Given the description of an element on the screen output the (x, y) to click on. 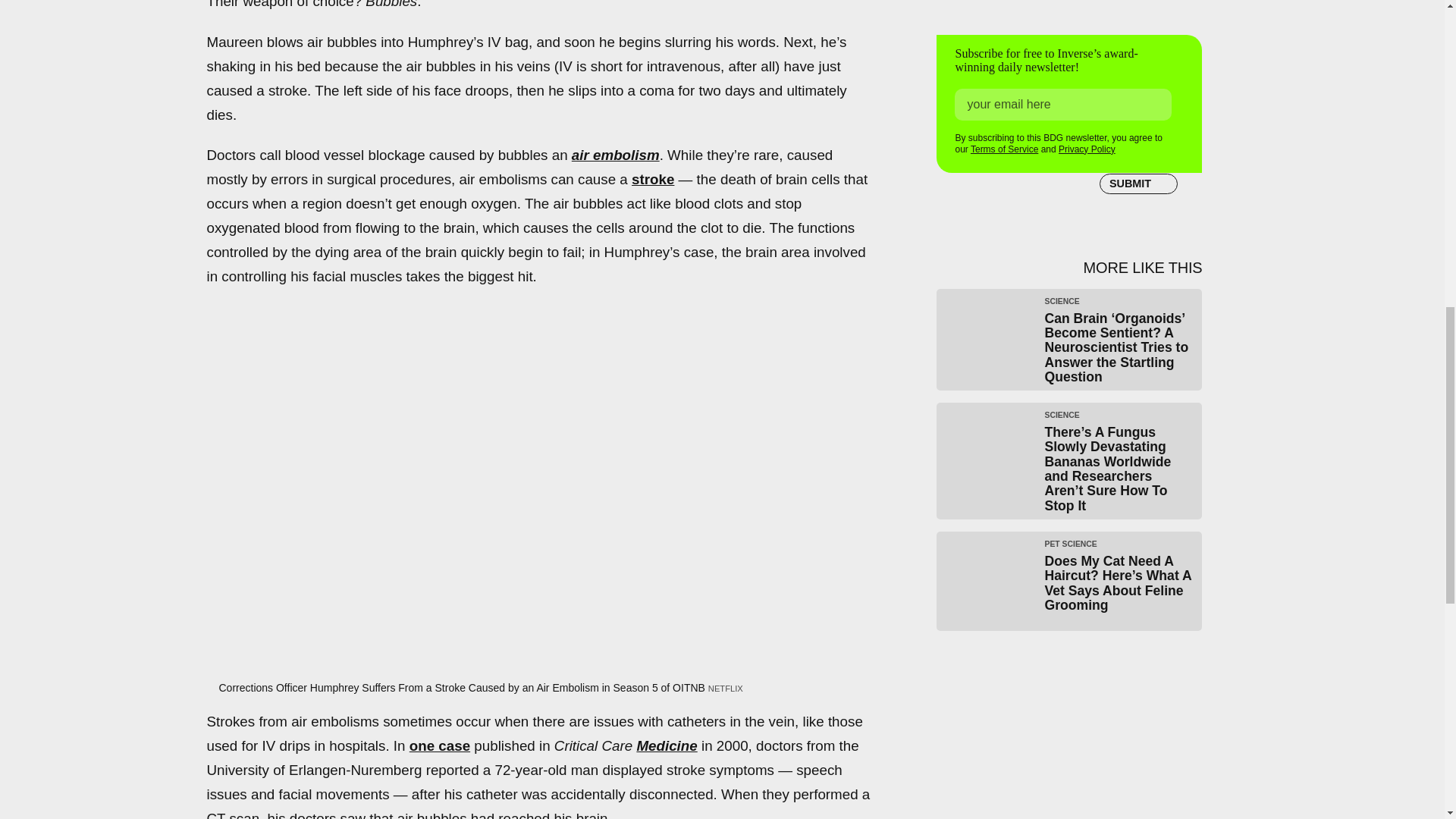
air embolism (615, 154)
SUBMIT (1138, 183)
Medicine (666, 745)
one case (439, 745)
Terms of Service (1004, 149)
Privacy Policy (1086, 149)
stroke (652, 179)
